Given the description of an element on the screen output the (x, y) to click on. 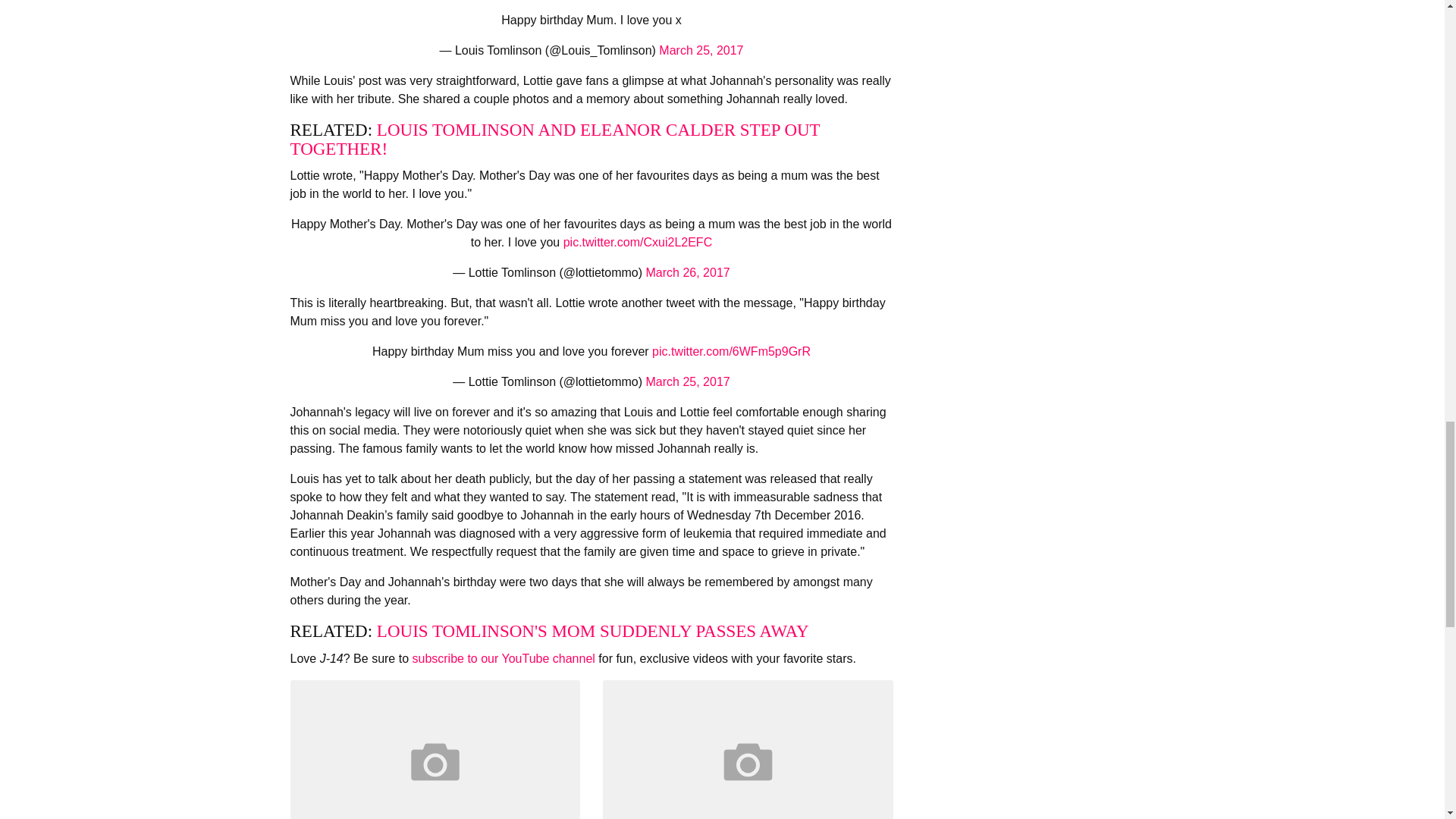
March 26, 2017 (688, 272)
LOUIS TOMLINSON AND ELEANOR CALDER STEP OUT TOGETHER! (554, 139)
March 25, 2017 (700, 50)
LOUIS TOMLINSON'S MOM SUDDENLY PASSES AWAY (593, 630)
subscribe to our YouTube channel (503, 658)
March 25, 2017 (688, 381)
